Given the description of an element on the screen output the (x, y) to click on. 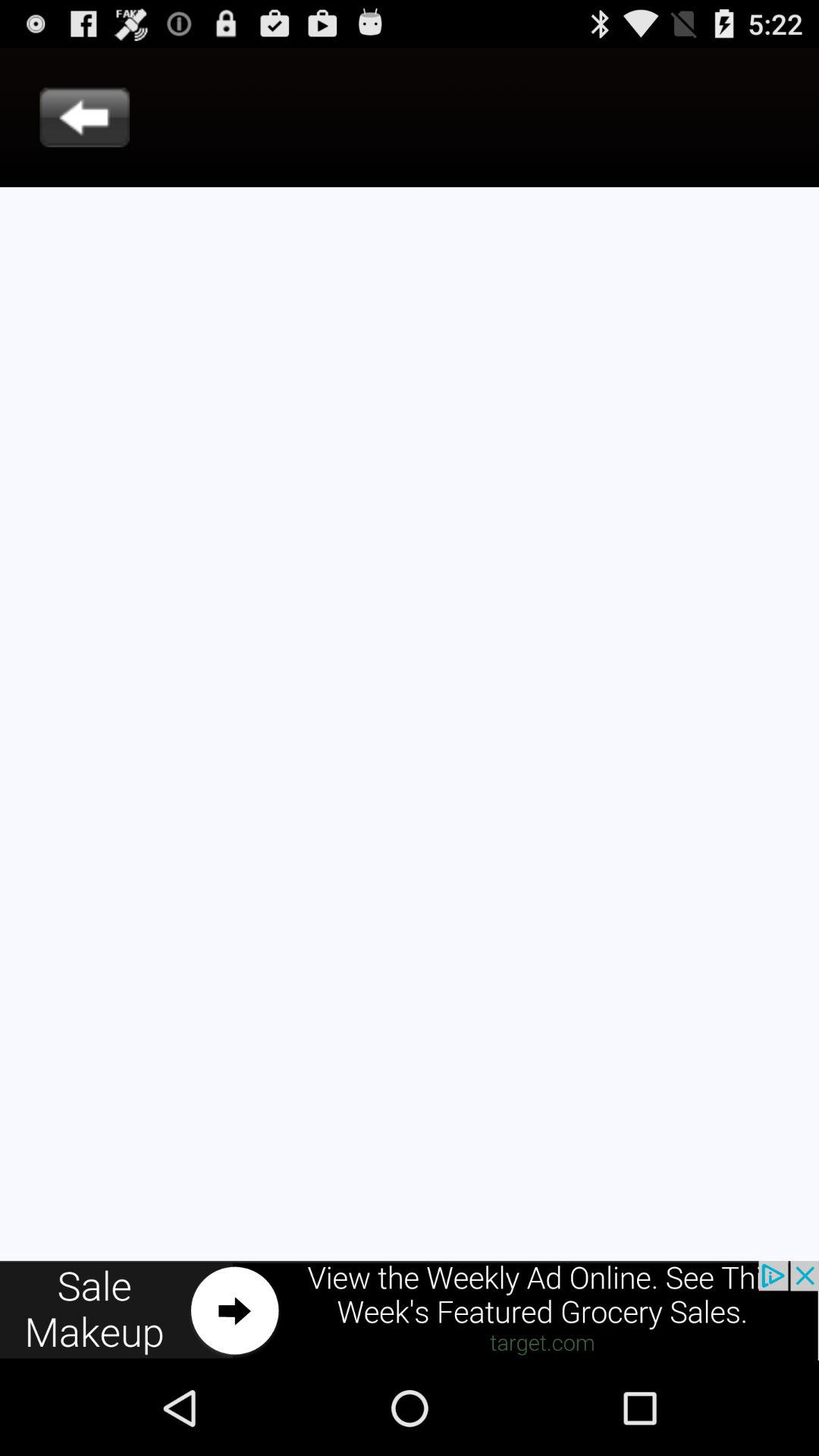
select advertisement (409, 1310)
